Given the description of an element on the screen output the (x, y) to click on. 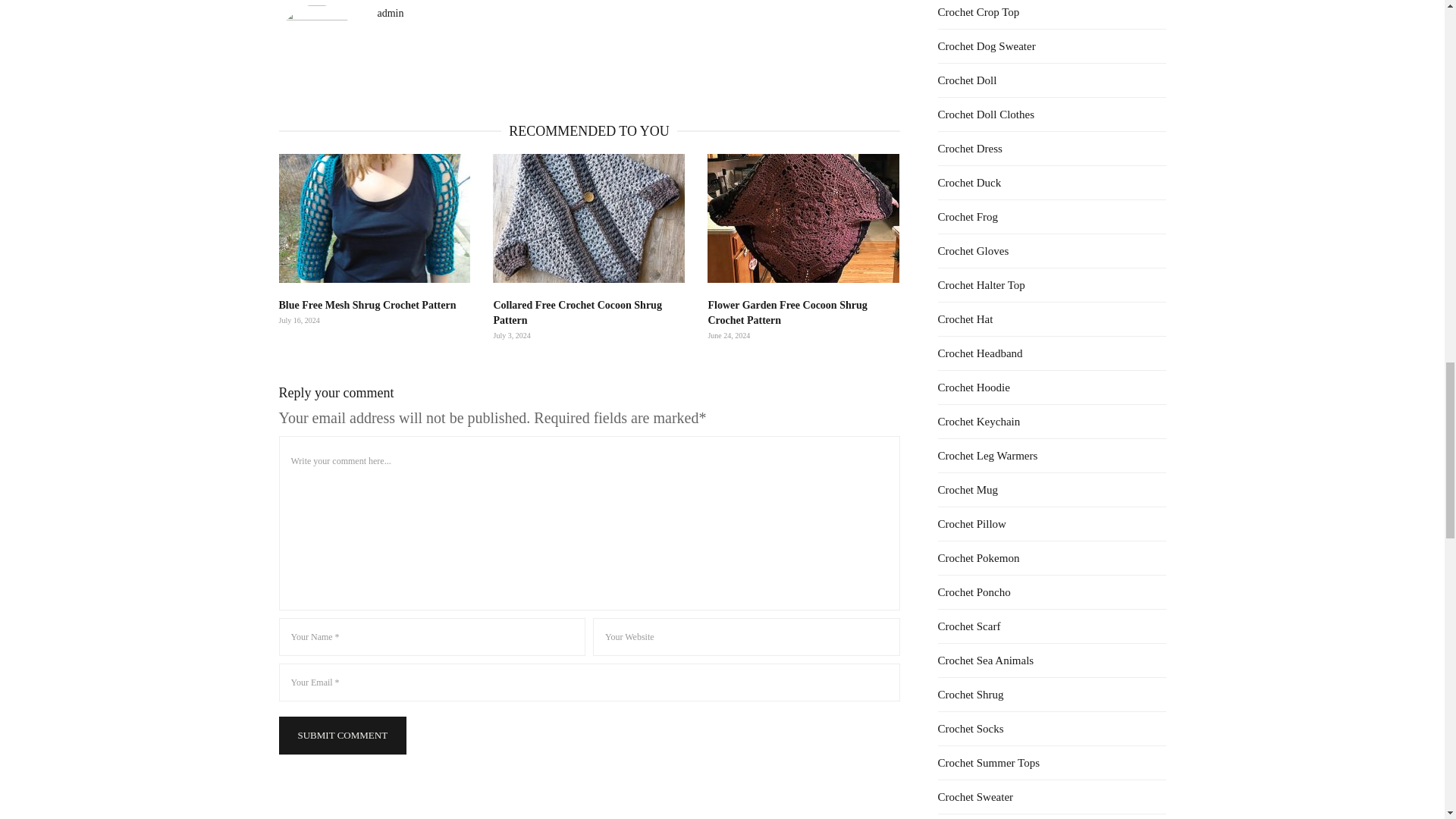
Blue Free Mesh Shrug Crochet Pattern (374, 217)
Submit Comment (343, 735)
Flower Garden Free Cocoon Shrug Crochet Pattern (786, 312)
Collared Free Crochet Cocoon Shrug Pattern (577, 312)
Collared Free Crochet Cocoon Shrug Pattern (588, 217)
Flower Garden Free Cocoon Shrug Crochet Pattern (803, 217)
Blue Free Mesh Shrug Crochet Pattern (368, 305)
